Given the description of an element on the screen output the (x, y) to click on. 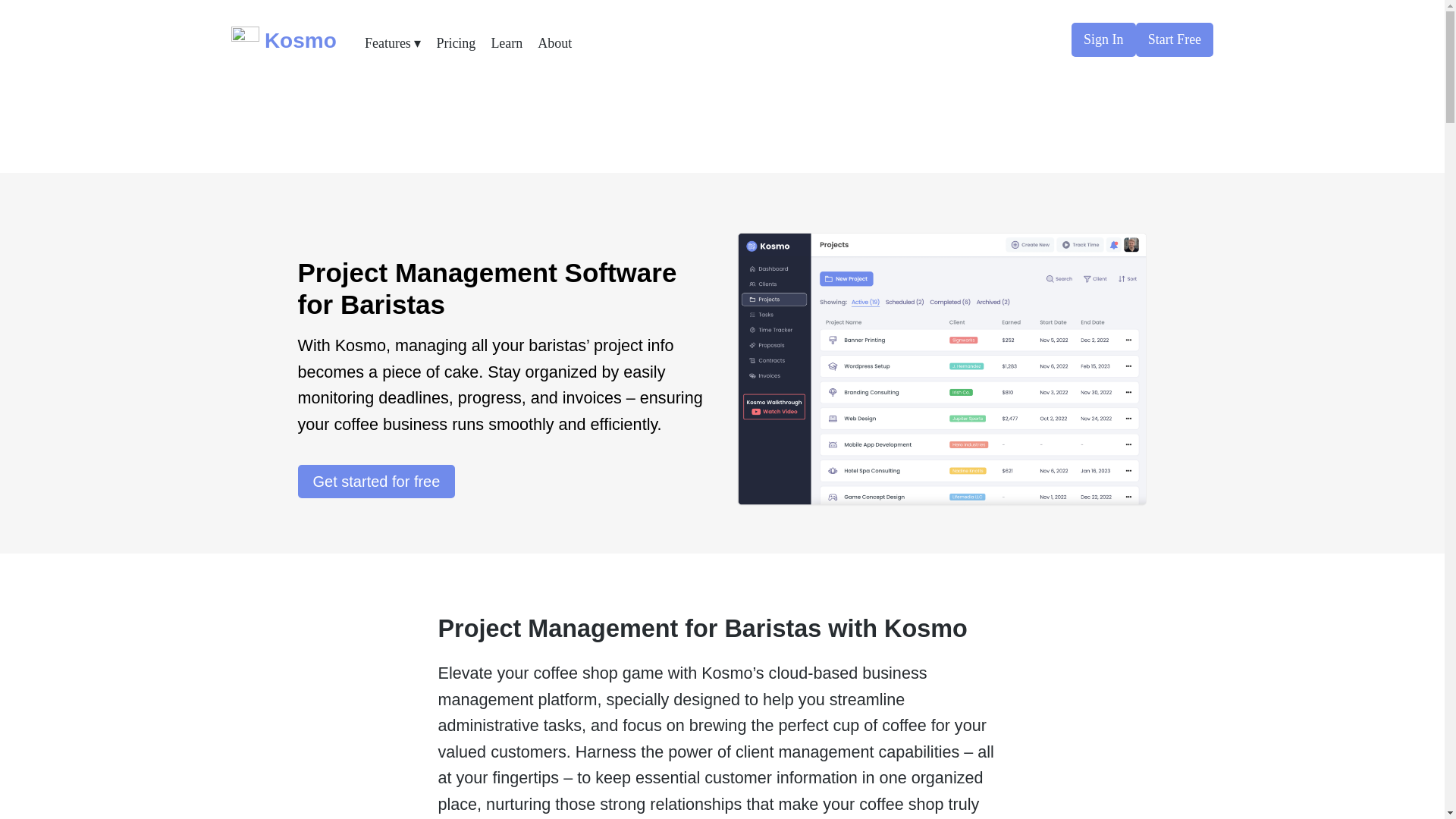
Learn (506, 43)
About (554, 43)
Sign In (1103, 38)
Start Free (1174, 38)
Get started for free (375, 481)
Pricing (455, 43)
